Given the description of an element on the screen output the (x, y) to click on. 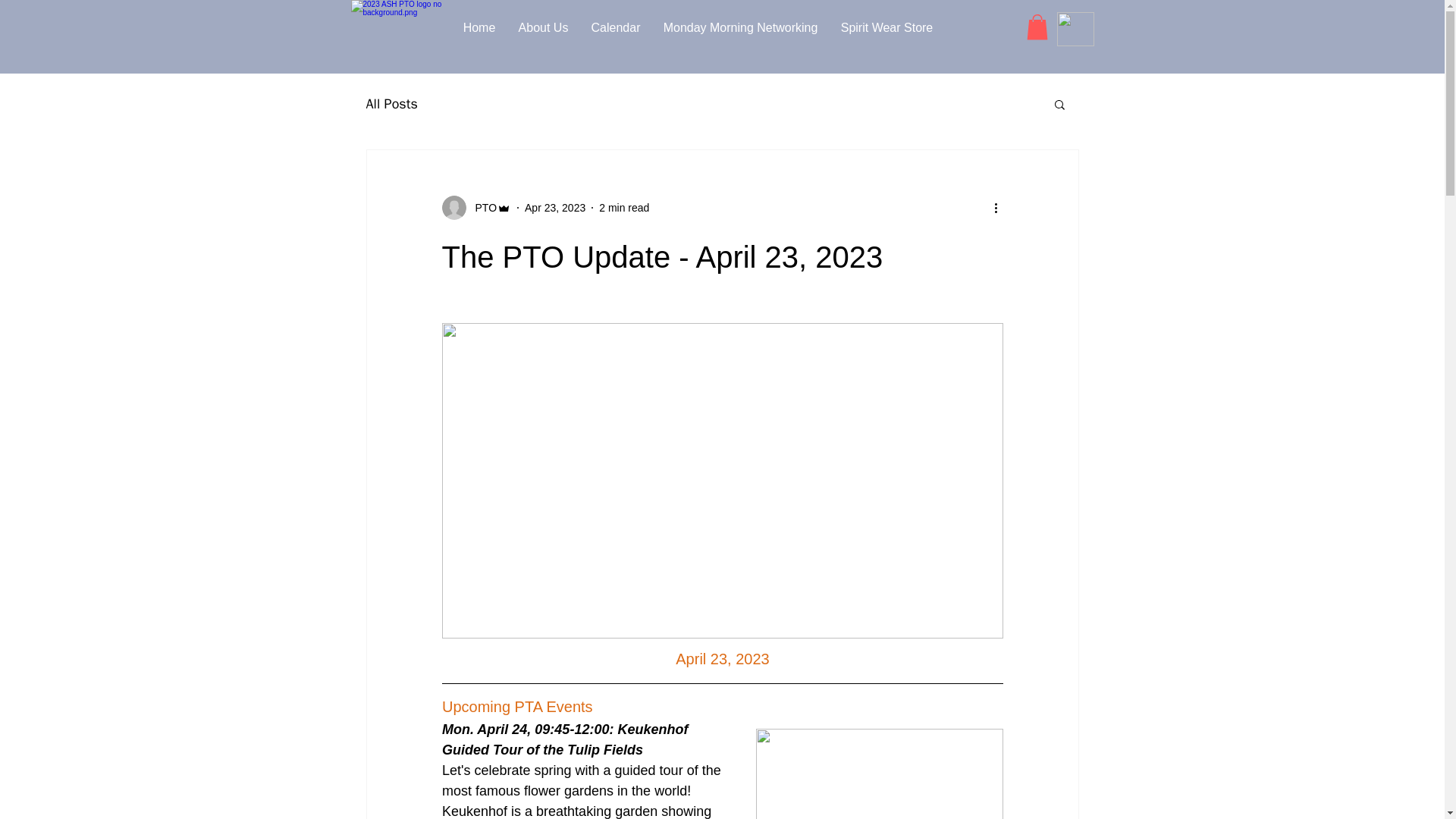
Home (478, 27)
Apr 23, 2023 (554, 207)
Spirit Wear Store (886, 27)
PTO (480, 207)
All Posts (390, 104)
Monday Morning Networking (740, 27)
2 min read (623, 207)
Calendar (614, 27)
PTO (476, 207)
